Given the description of an element on the screen output the (x, y) to click on. 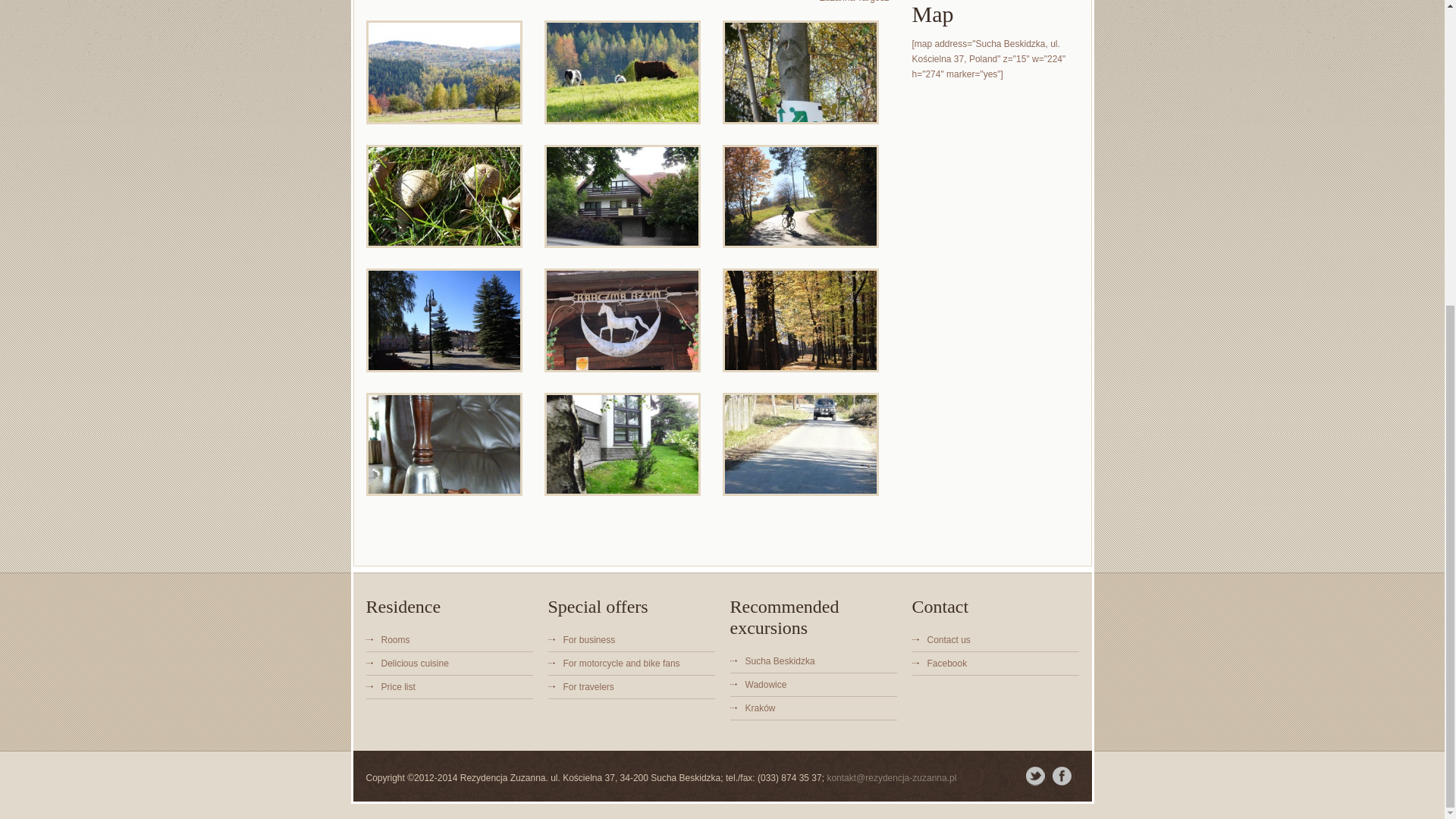
Price list (397, 686)
Rooms (394, 639)
For business (588, 639)
Contact us (947, 639)
For travelers (587, 686)
Facebook (946, 663)
For motorcycle and bike fans (620, 663)
Delicious cuisine (414, 663)
